Given the description of an element on the screen output the (x, y) to click on. 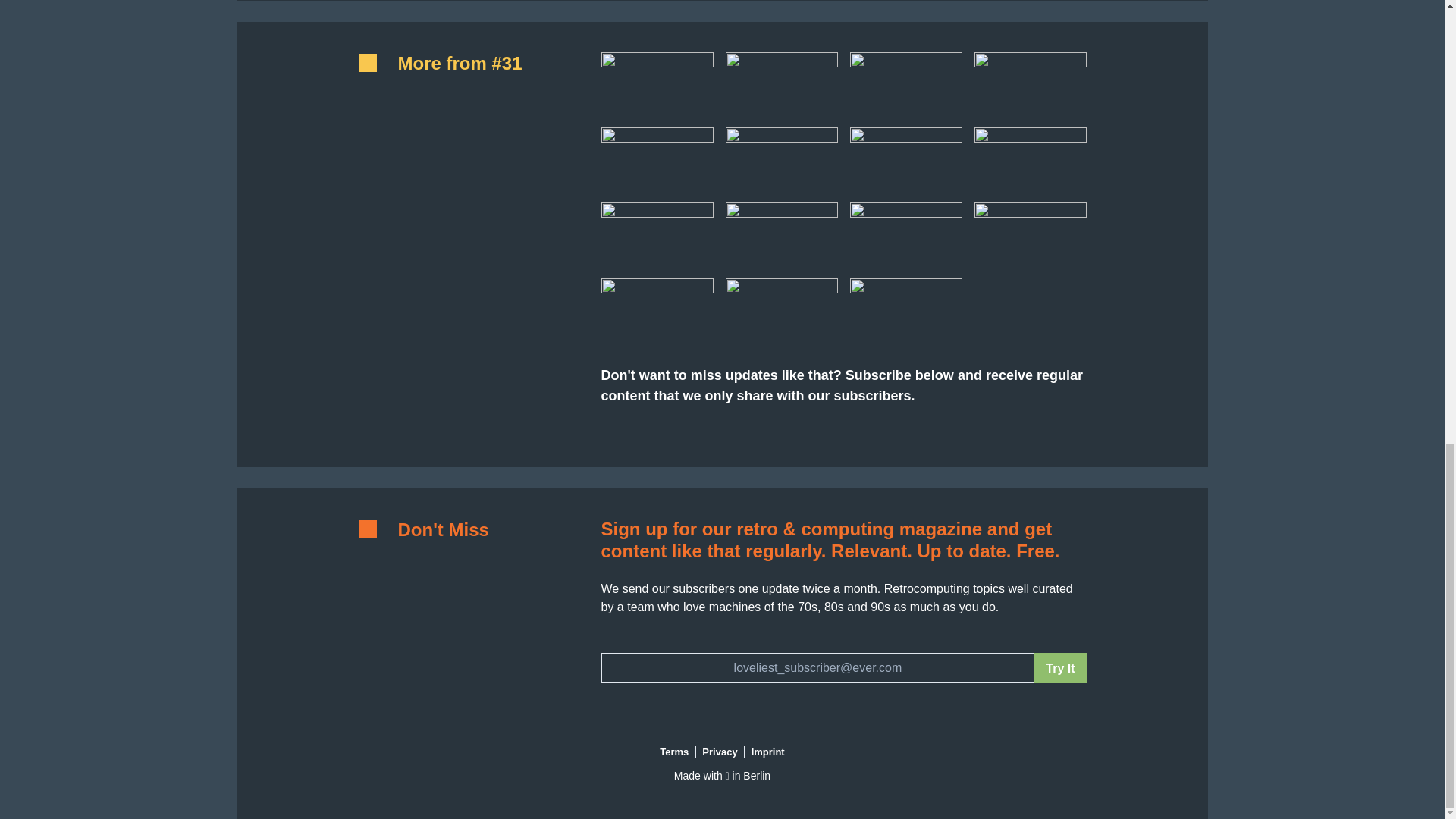
Imprint (767, 751)
Privacy (719, 751)
Try It (1059, 667)
Terms (674, 751)
Subscribe below (899, 375)
